Given the description of an element on the screen output the (x, y) to click on. 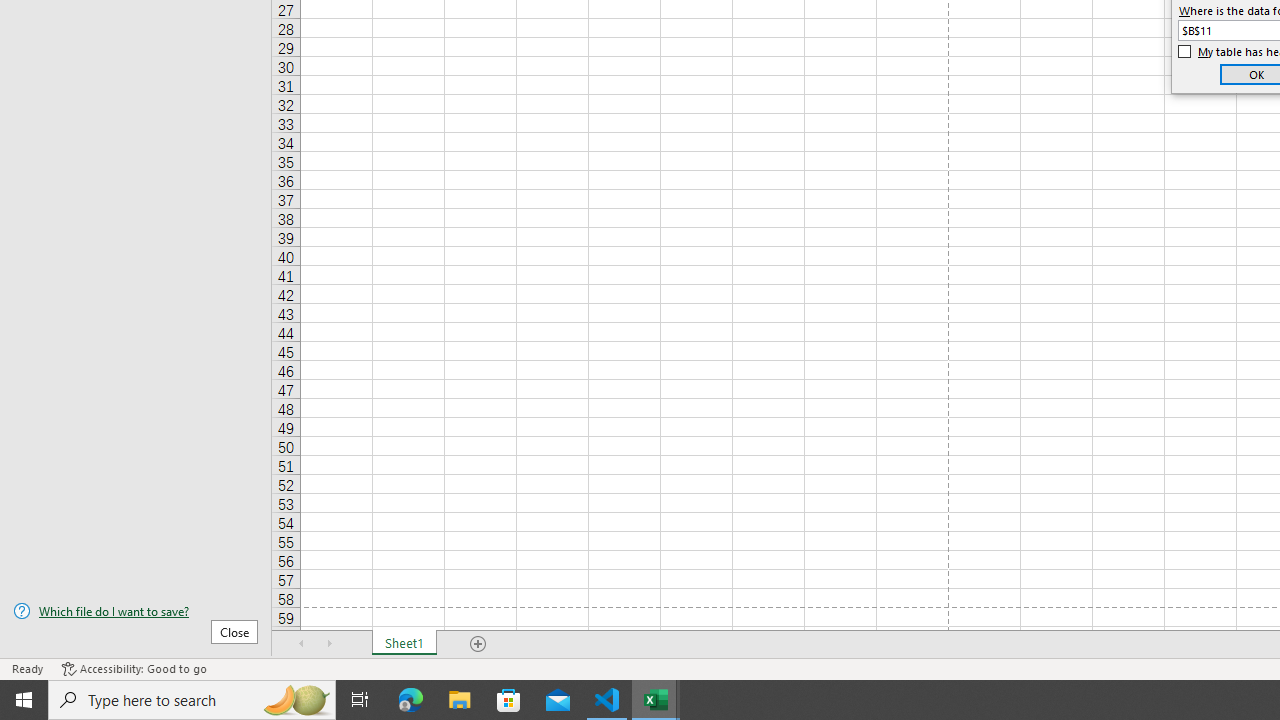
Which file do I want to save? (136, 611)
